Given the description of an element on the screen output the (x, y) to click on. 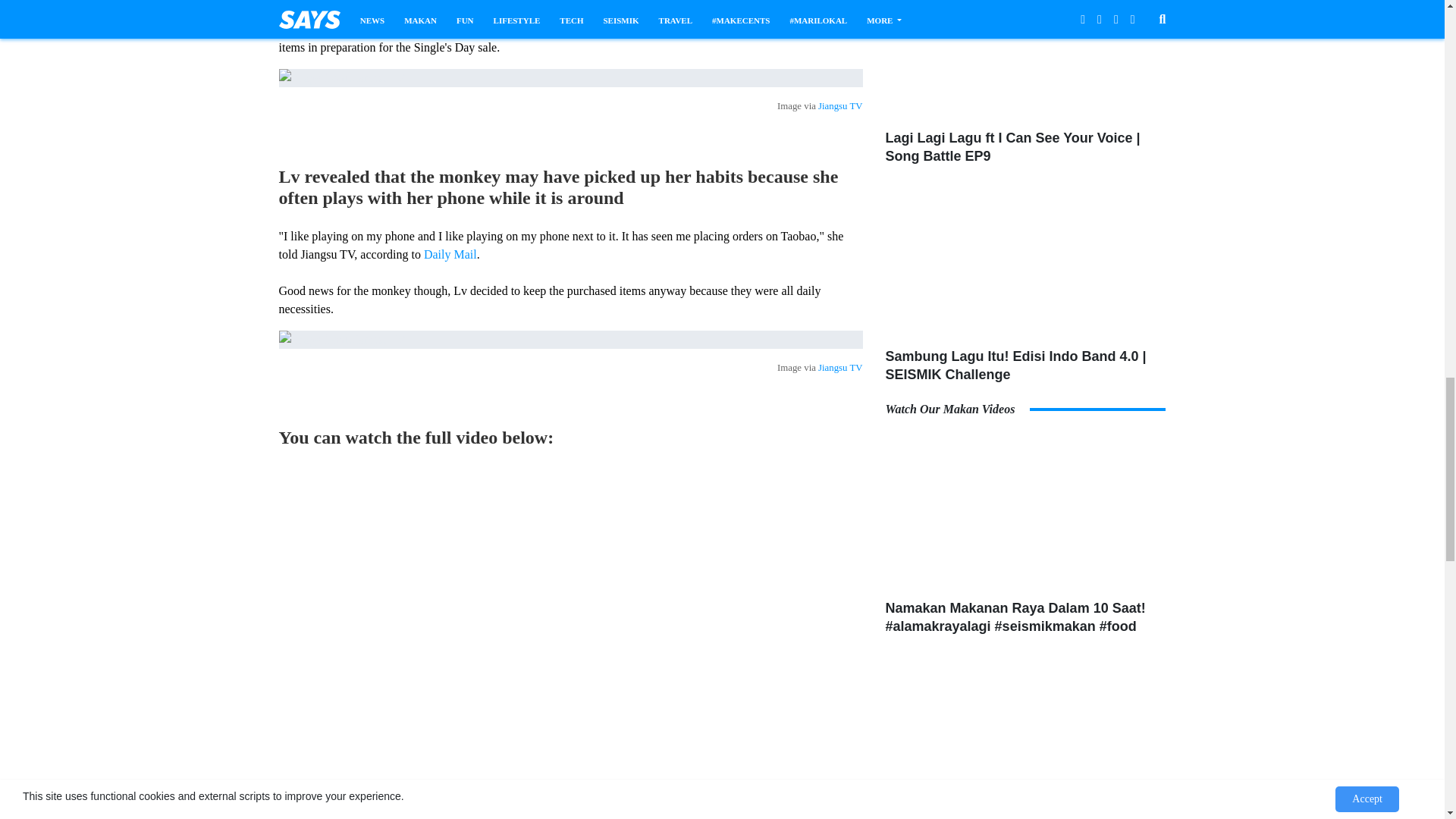
Image from Jiangsu TV (571, 339)
Image from Jiangsu TV (571, 77)
